Given the description of an element on the screen output the (x, y) to click on. 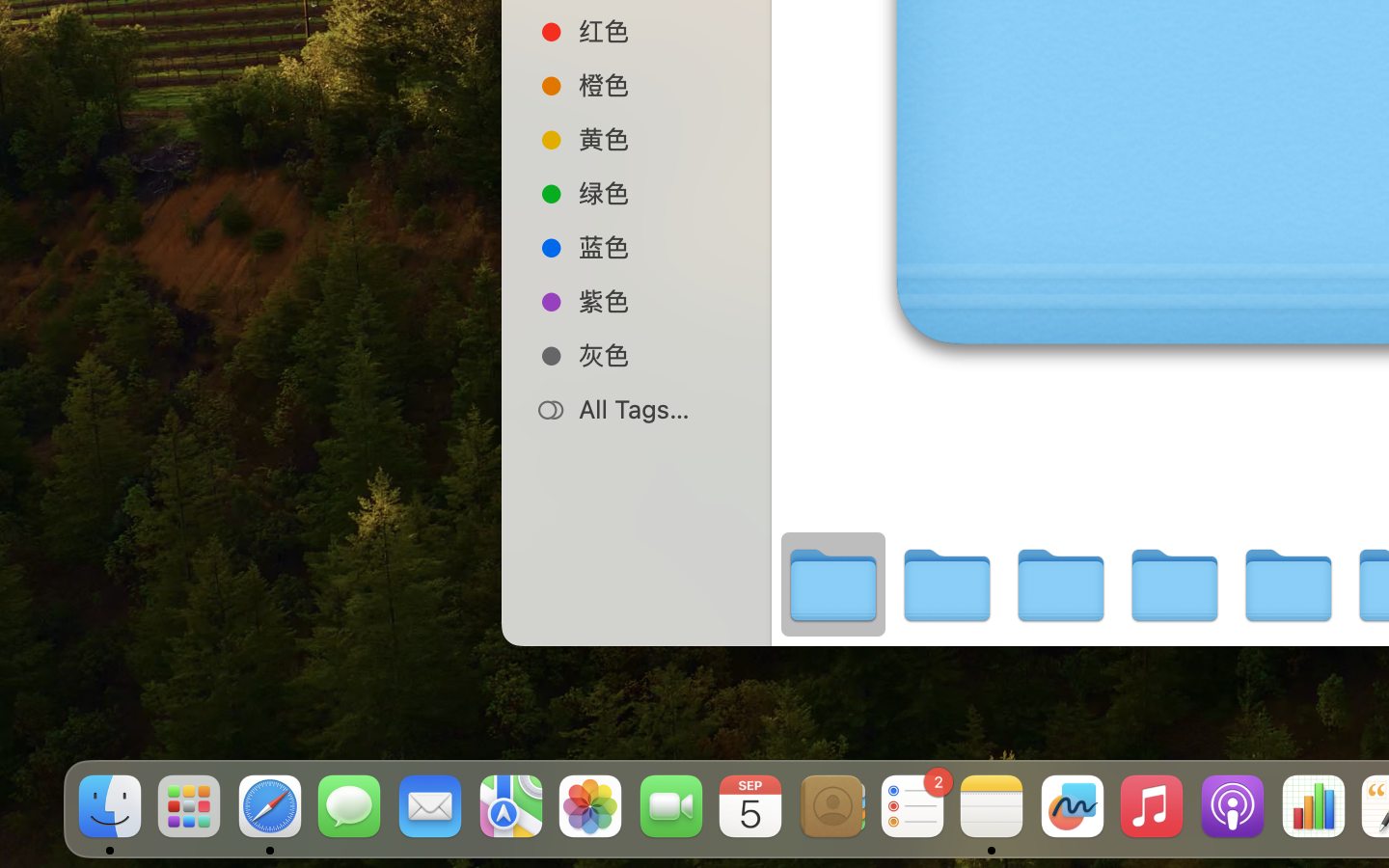
紫色 Element type: AXStaticText (656, 300)
All Tags… Element type: AXStaticText (656, 408)
黄色 Element type: AXStaticText (656, 138)
灰色 Element type: AXStaticText (656, 354)
红色 Element type: AXStaticText (656, 30)
